Given the description of an element on the screen output the (x, y) to click on. 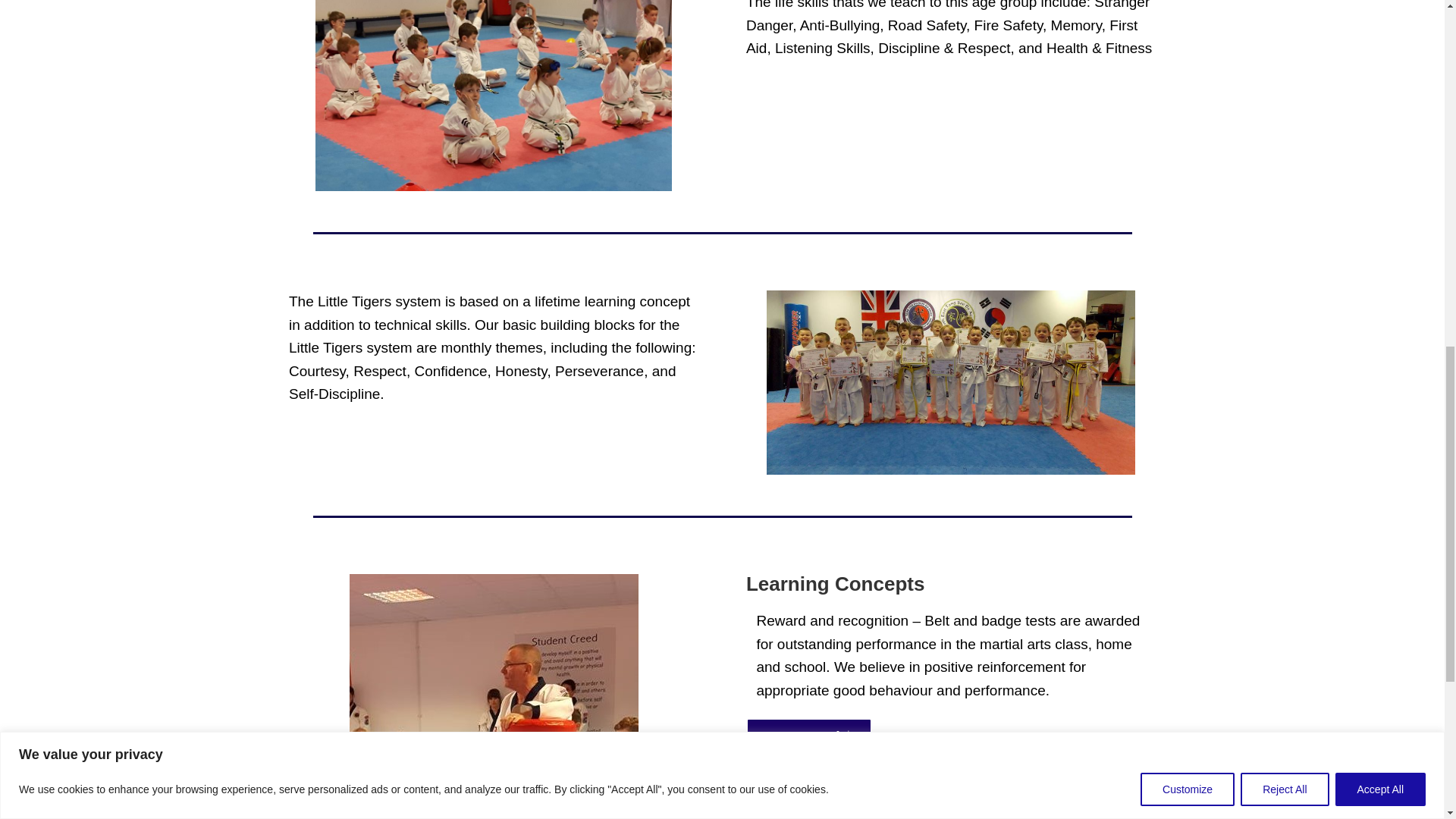
Get Started (808, 736)
